Given the description of an element on the screen output the (x, y) to click on. 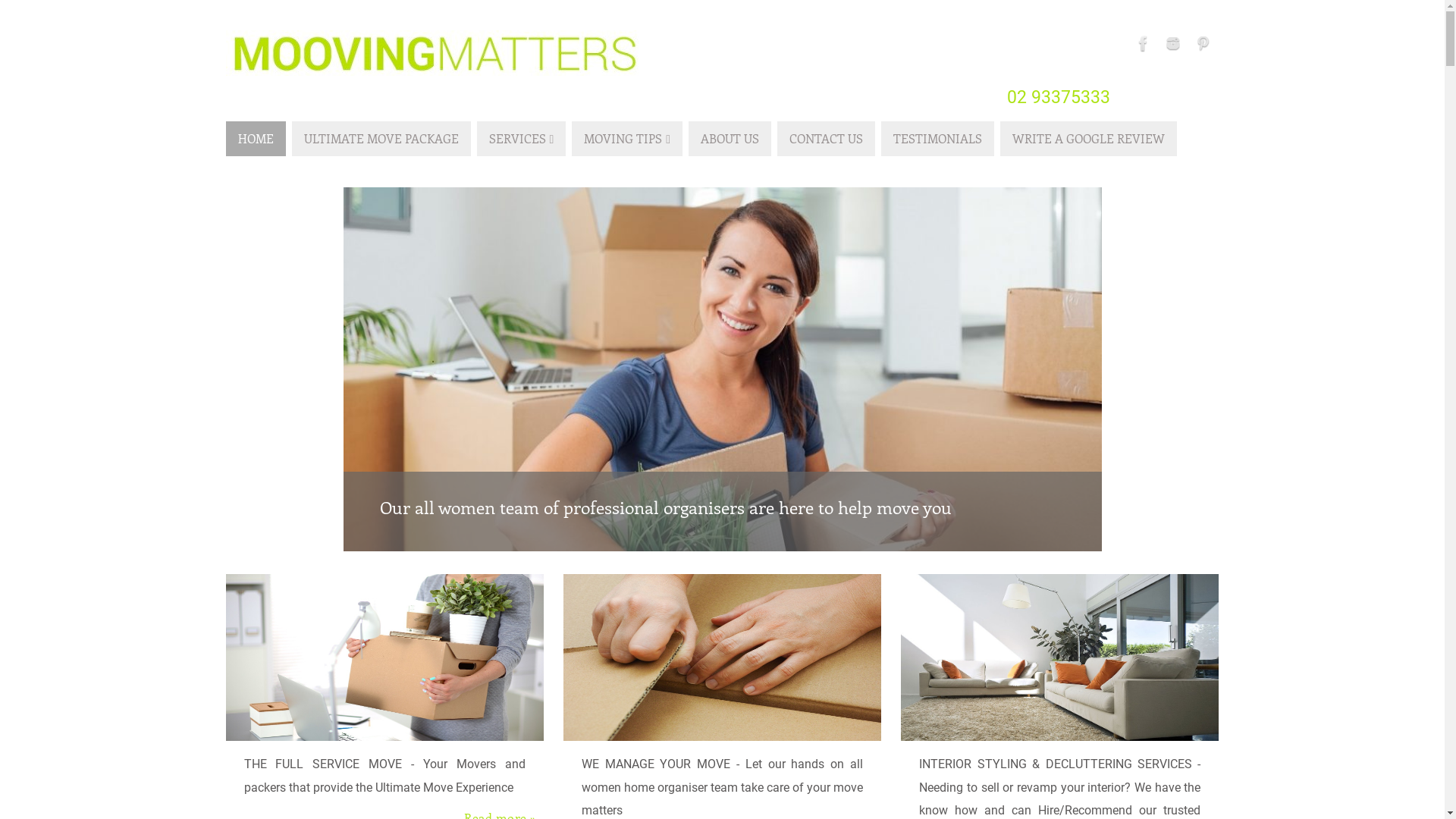
ULTIMATE MOVE PACKAGE Element type: text (380, 138)
MOVING TIPS Element type: text (626, 138)
WRITE A GOOGLE REVIEW Element type: text (1088, 138)
Professional Organiser Presale & Styling Advice Element type: text (1059, 657)
Full Service Ultimate Move Package Element type: text (384, 657)
Instagram Element type: hover (1173, 43)
Pinterest Element type: hover (1201, 43)
Move Management Element type: text (722, 657)
02 93375333 Element type: text (1058, 97)
Mooving Matters Element type: hover (433, 52)
CONTACT US Element type: text (826, 138)
Facebook Element type: hover (1142, 43)
ABOUT US Element type: text (729, 138)
HOME Element type: text (255, 138)
SERVICES Element type: text (520, 138)
TESTIMONIALS Element type: text (937, 138)
